Given the description of an element on the screen output the (x, y) to click on. 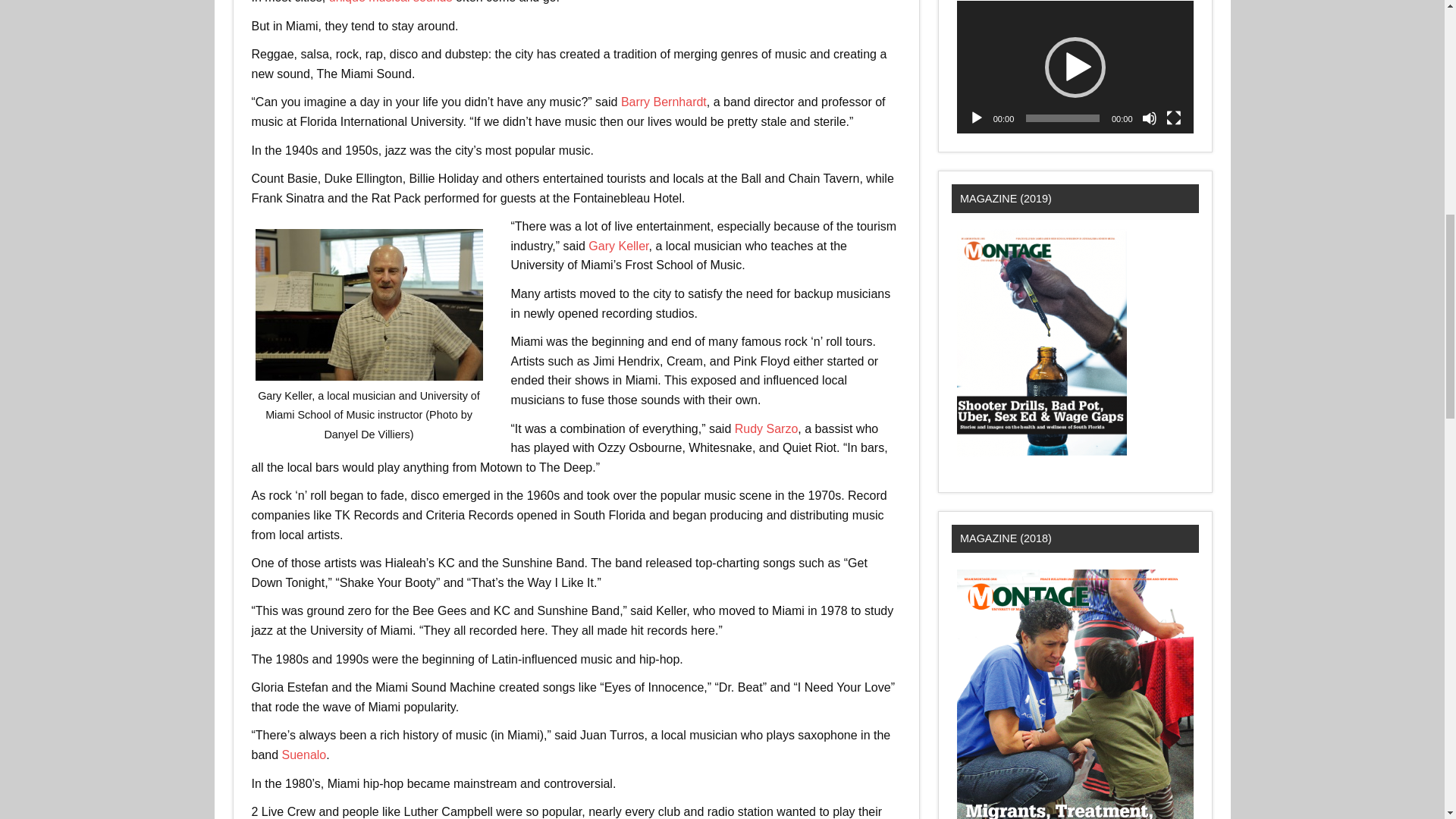
Rudy Sarzo (766, 428)
Gary Keller (617, 245)
Barry Bernhardt (663, 101)
Mute (1149, 118)
Suenalo (304, 754)
Play (976, 118)
Fullscreen (1173, 118)
unique musical sounds (390, 2)
